Given the description of an element on the screen output the (x, y) to click on. 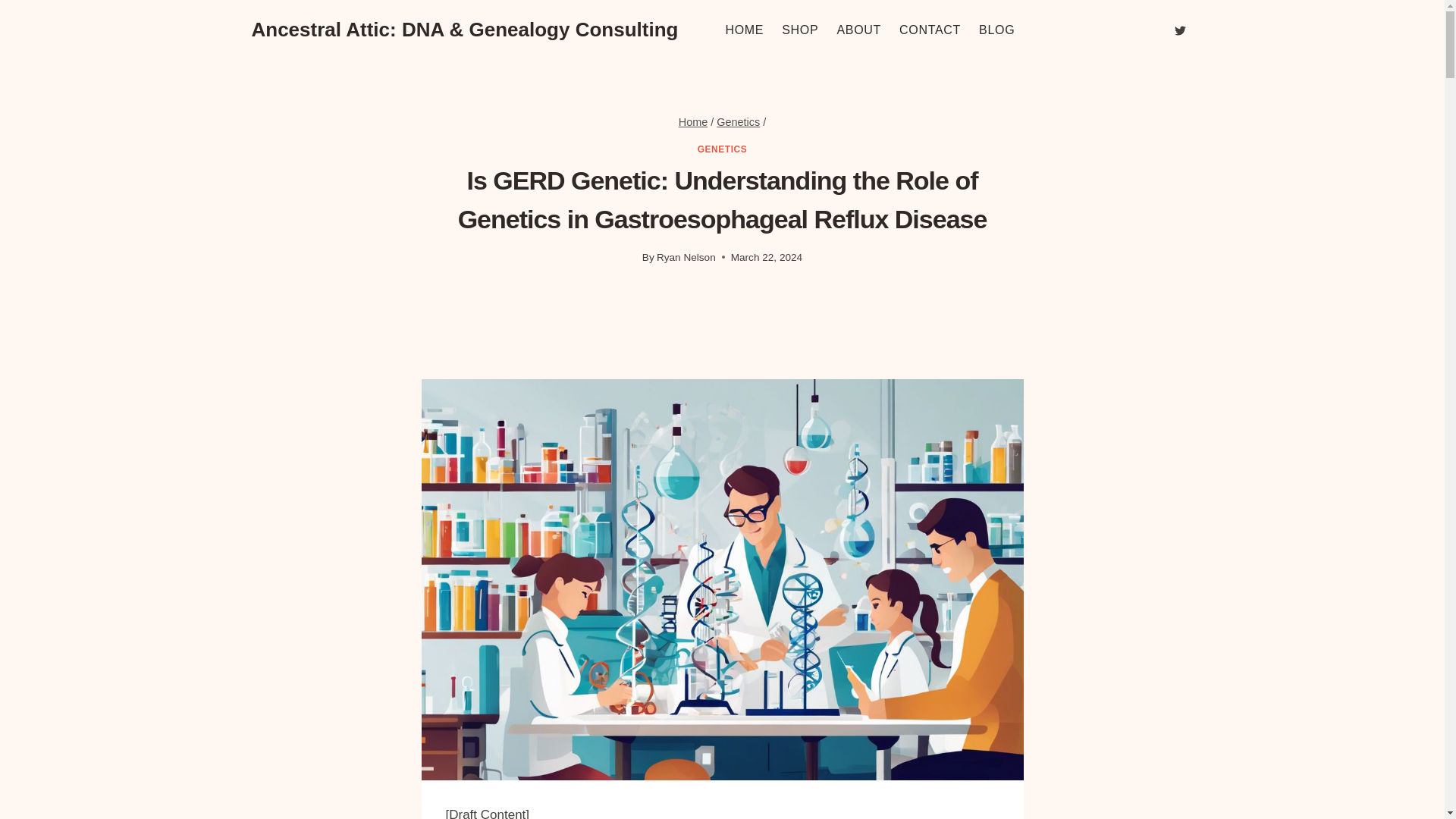
CONTACT (929, 30)
Home (692, 121)
Ryan Nelson (686, 256)
ABOUT (858, 30)
GENETICS (722, 149)
Genetics (738, 121)
SHOP (800, 30)
BLOG (996, 30)
HOME (744, 30)
